Given the description of an element on the screen output the (x, y) to click on. 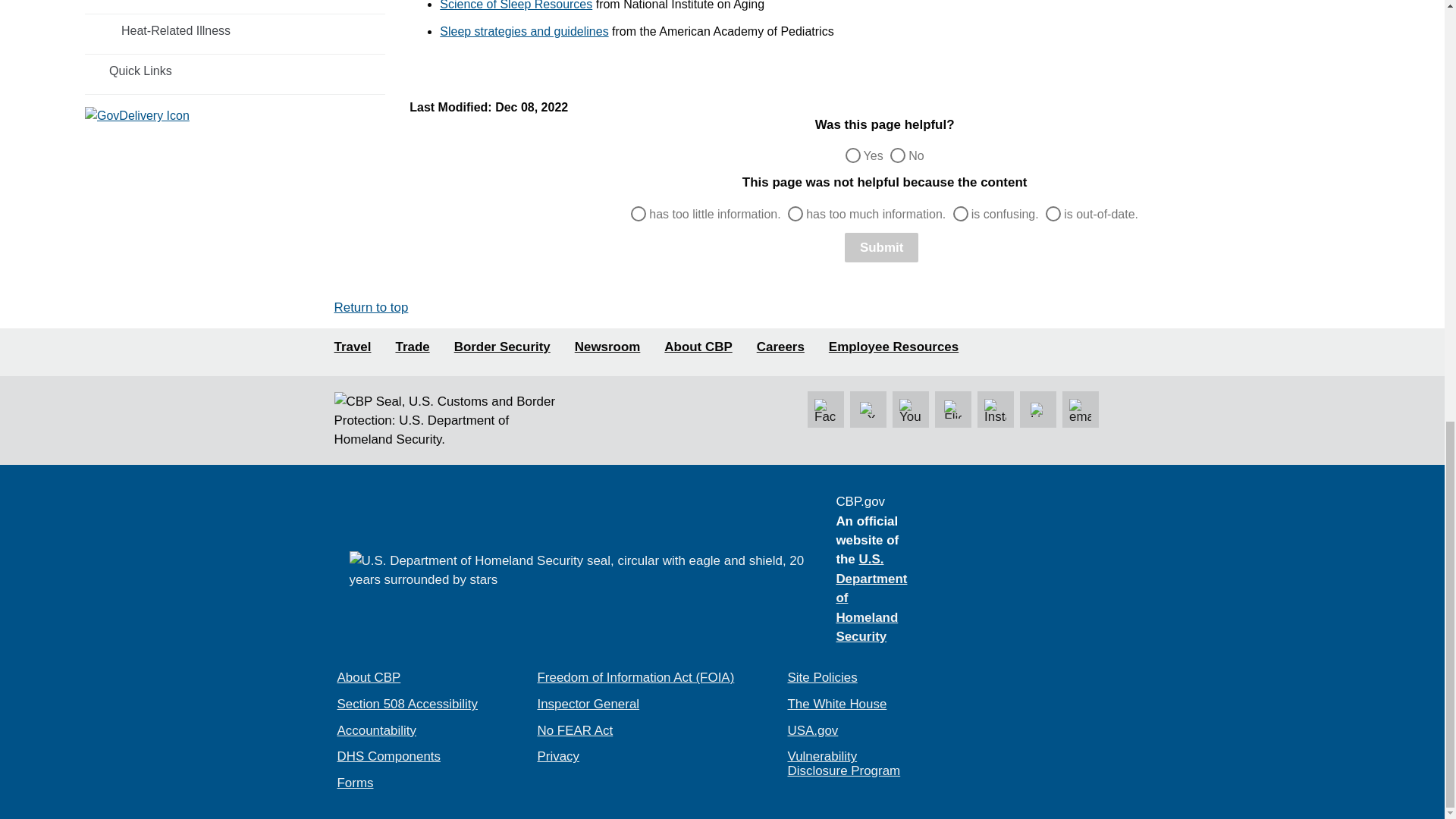
Quick Links (234, 70)
Travel (352, 347)
Careers (781, 347)
Heat-Related Illness (234, 30)
Submit (881, 247)
About (697, 347)
Submit (881, 247)
Border Security (502, 347)
Newsroom (607, 347)
Heat Awareness (234, 5)
